Given the description of an element on the screen output the (x, y) to click on. 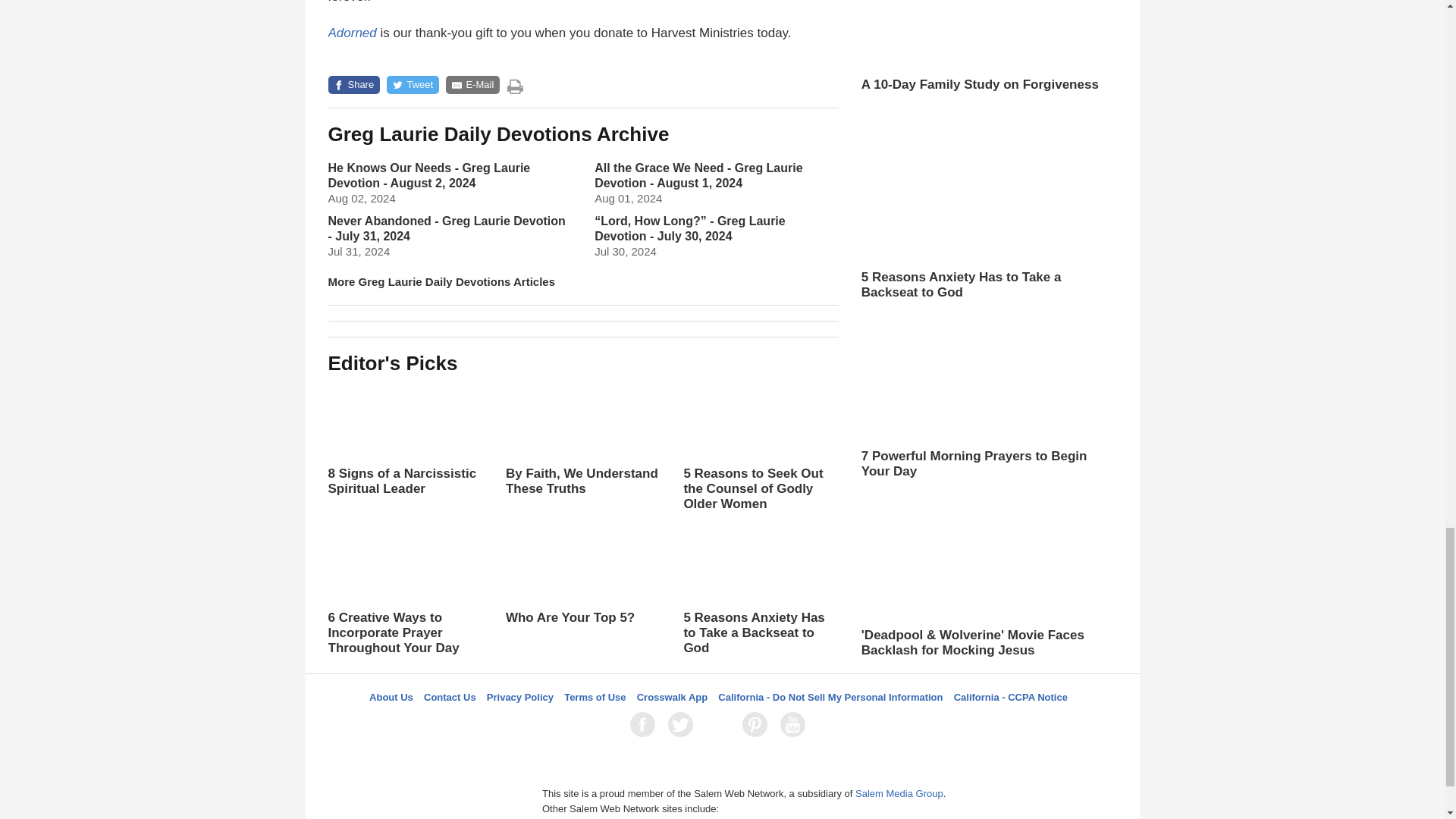
YouTube (795, 724)
Who Are Your Top 5? (583, 589)
5 Reasons to Seek Out the Counsel of Godly Older Women (760, 446)
Facebook (645, 724)
8 Signs of a Narcissistic Spiritual Leader (404, 438)
Twitter (683, 724)
5 Reasons Anxiety Has to Take a Backseat to God (760, 590)
6 Creative Ways to Incorporate Prayer Throughout Your Day (404, 590)
Pinterest (757, 724)
By Faith, We Understand These Truths (583, 453)
LifeAudio (719, 724)
